Given the description of an element on the screen output the (x, y) to click on. 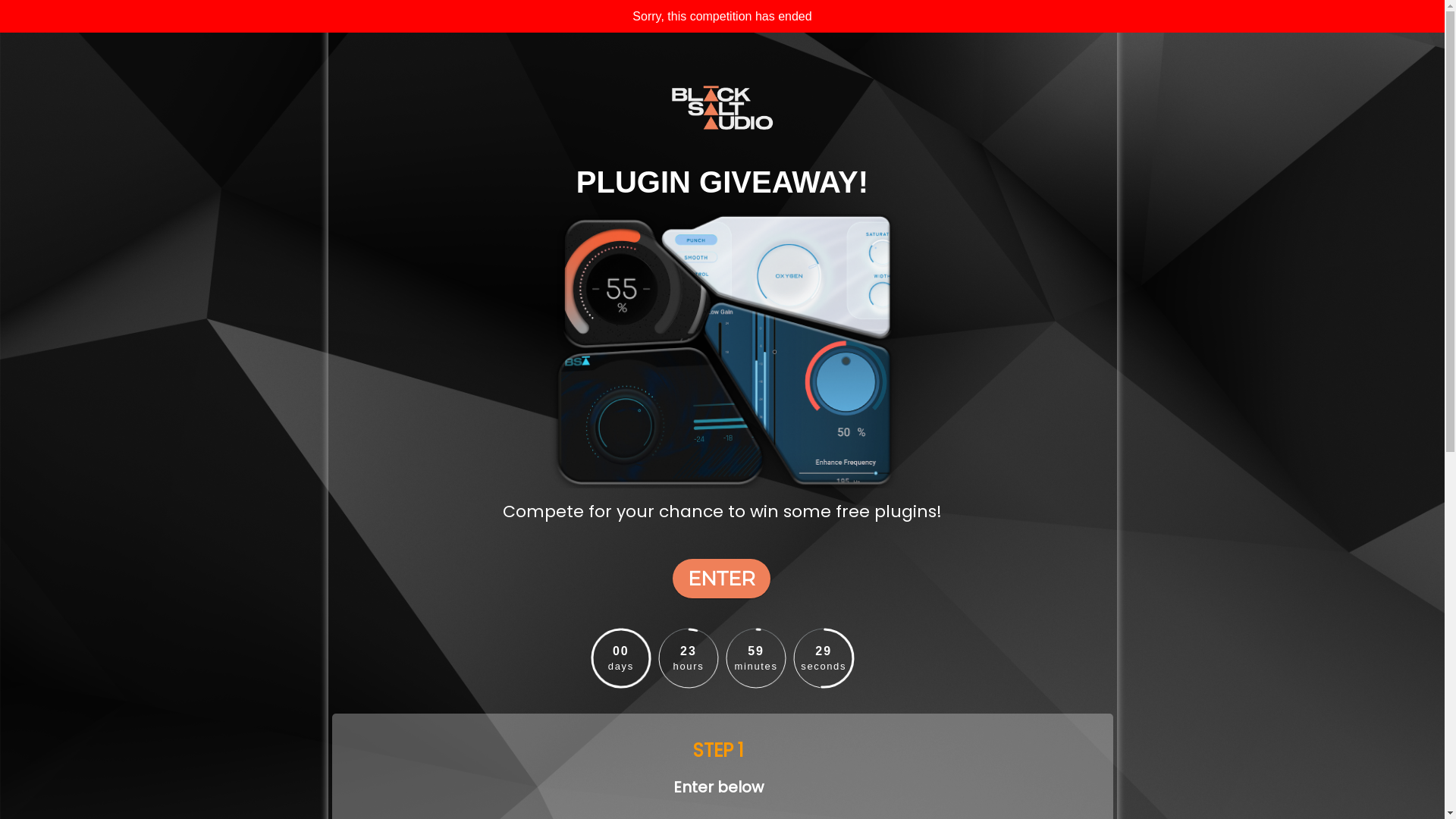
ENTER Element type: text (720, 578)
